Given the description of an element on the screen output the (x, y) to click on. 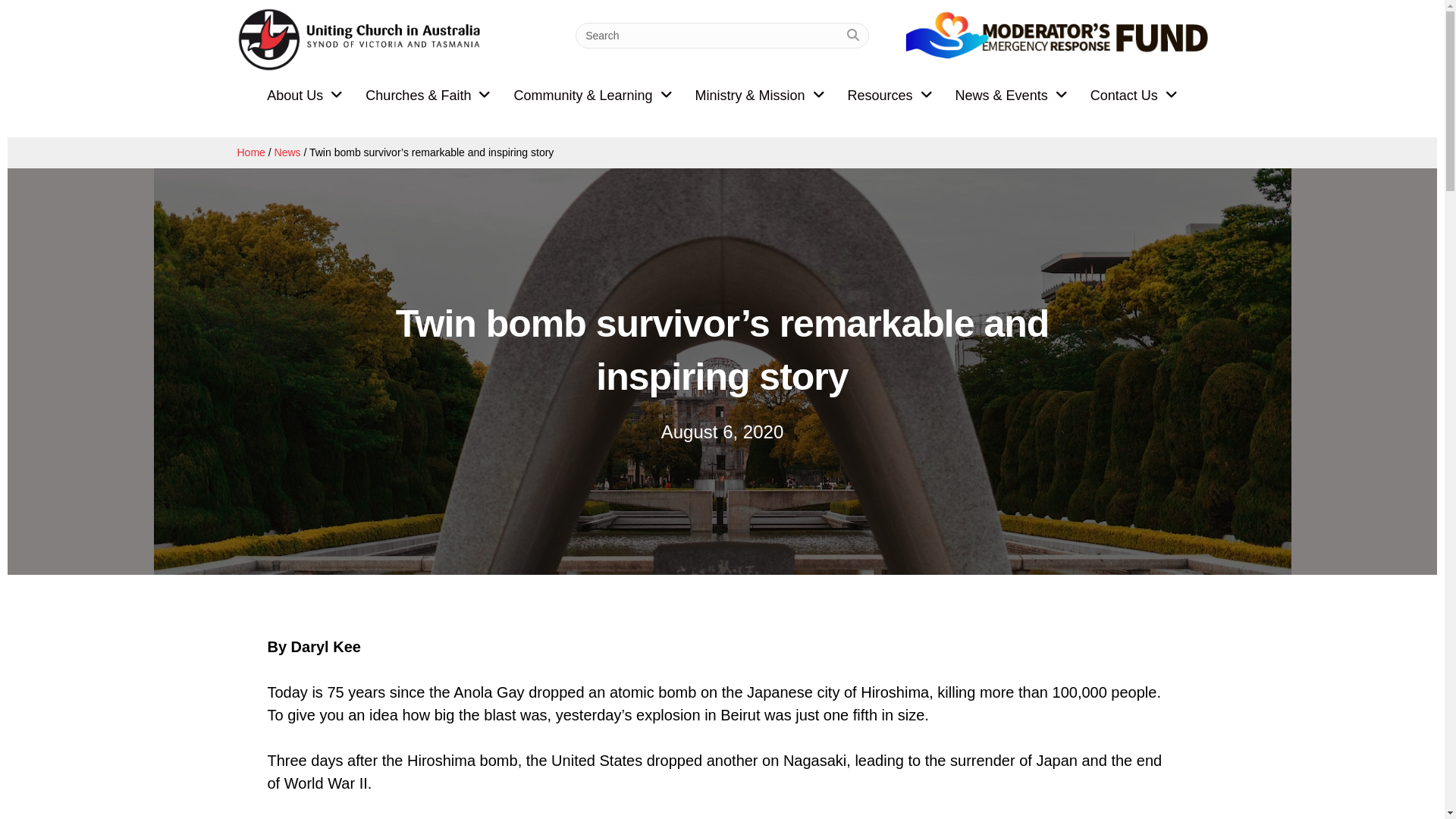
MEF LOGO V2 400x95px Element type: hover (1056, 40)
About Us Element type: text (304, 95)
News Element type: text (287, 152)
News & Events Element type: text (1011, 95)
Submit Element type: text (852, 35)
Ministry & Mission Element type: text (759, 95)
Type and press Enter to search. Element type: hover (722, 35)
Home Element type: text (250, 152)
UCA-general-Logo_transpant-background Element type: hover (360, 39)
Churches & Faith Element type: text (427, 95)
Resources Element type: text (890, 95)
Community & Learning Element type: text (592, 95)
Contact Us Element type: text (1133, 95)
